Given the description of an element on the screen output the (x, y) to click on. 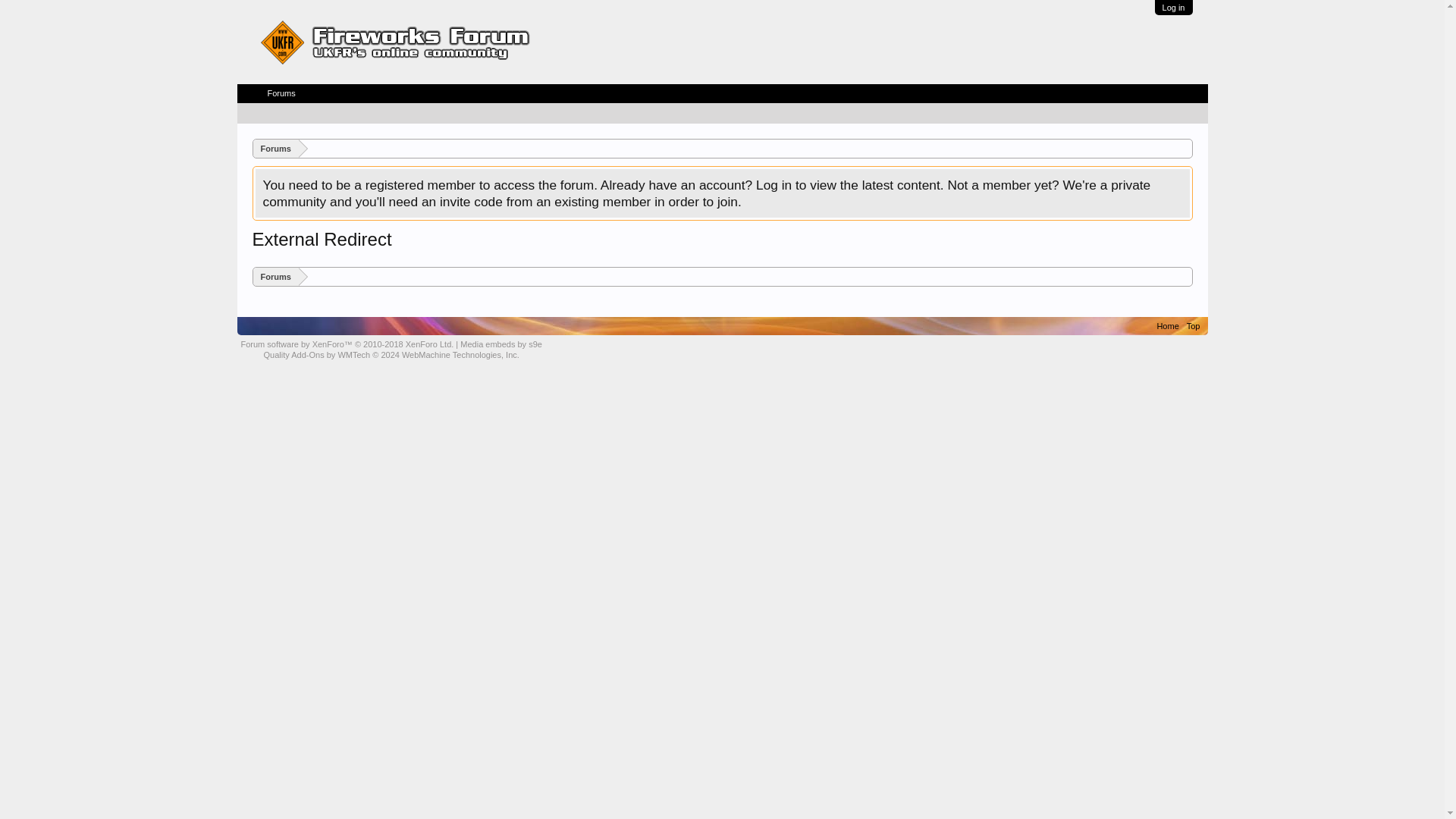
XenForo Quality Add-Ons by WMTech (391, 354)
Forums (275, 148)
Forums (281, 94)
Media BBCodes provided by s9e Media Pack v20200722 (500, 343)
Media embeds by s9e (500, 343)
Forums (275, 276)
